Given the description of an element on the screen output the (x, y) to click on. 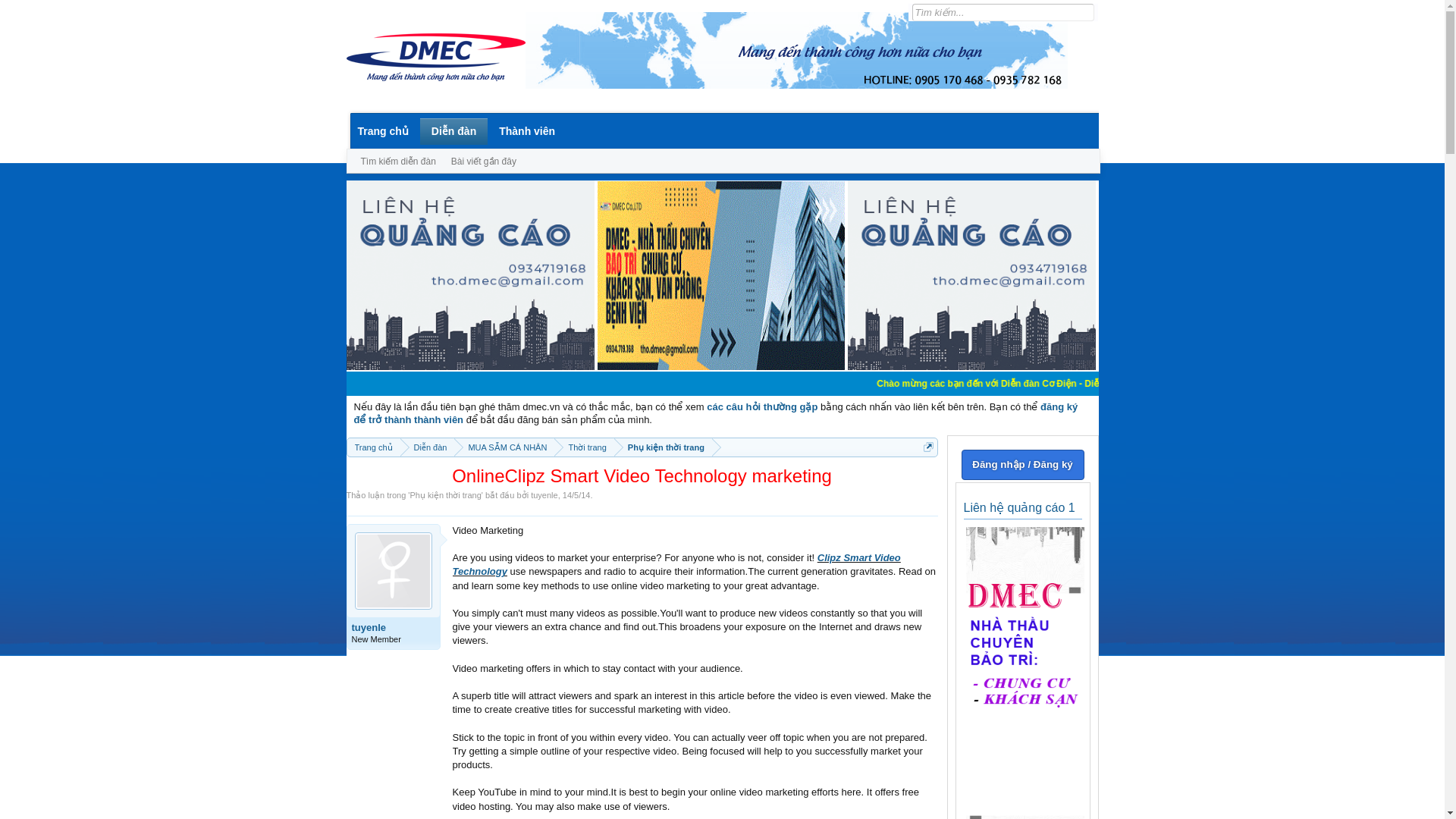
Lien he dmec.vn (971, 275)
lien he dmec.vn (470, 366)
tuyenle (393, 627)
lien he dmec.vn (971, 366)
Lien he dmec.vn (720, 275)
Clipz Smart Video Technology (675, 564)
lien he dmec.vn (720, 366)
Lien he dmec.vn (470, 275)
tuyenle (544, 494)
